Given the description of an element on the screen output the (x, y) to click on. 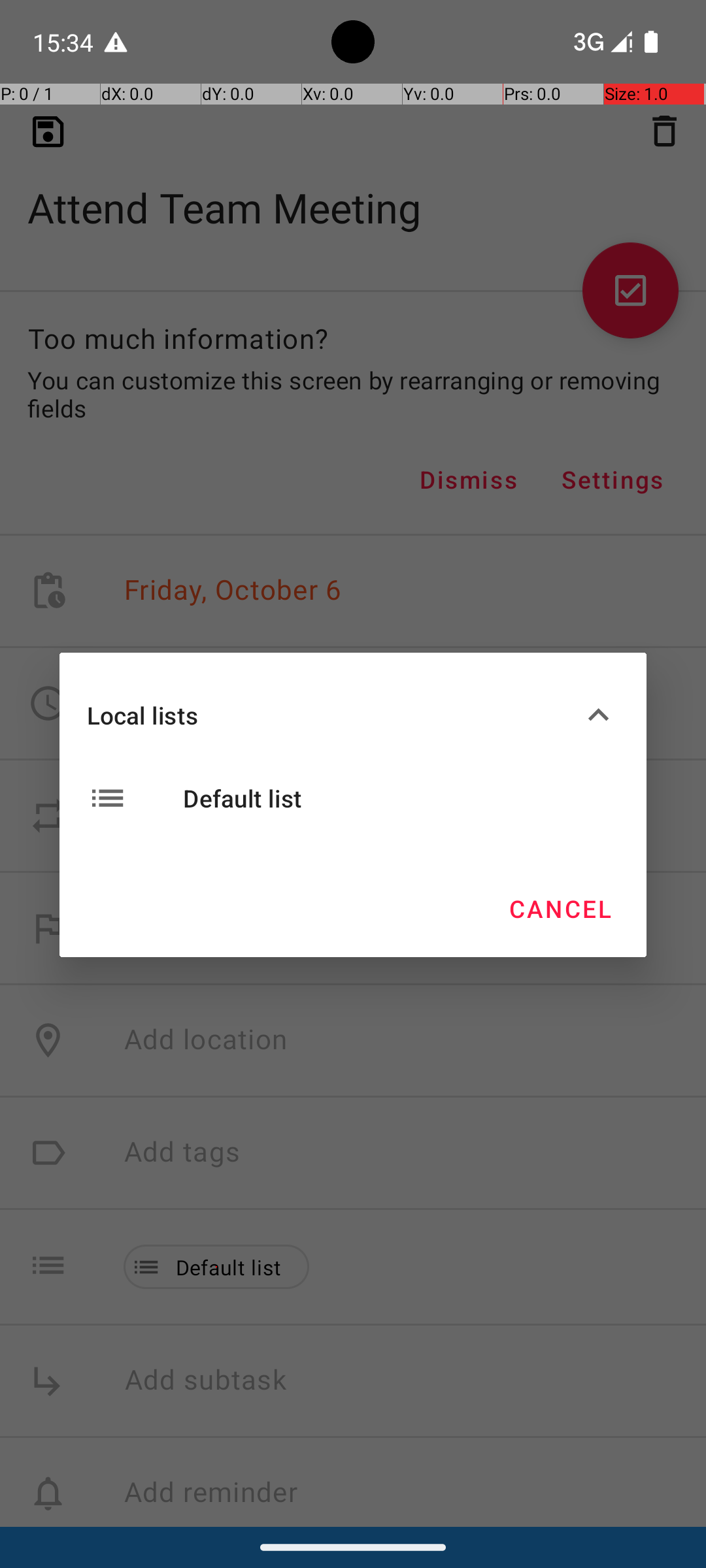
Local lists Element type: android.widget.TextView (331, 715)
